Given the description of an element on the screen output the (x, y) to click on. 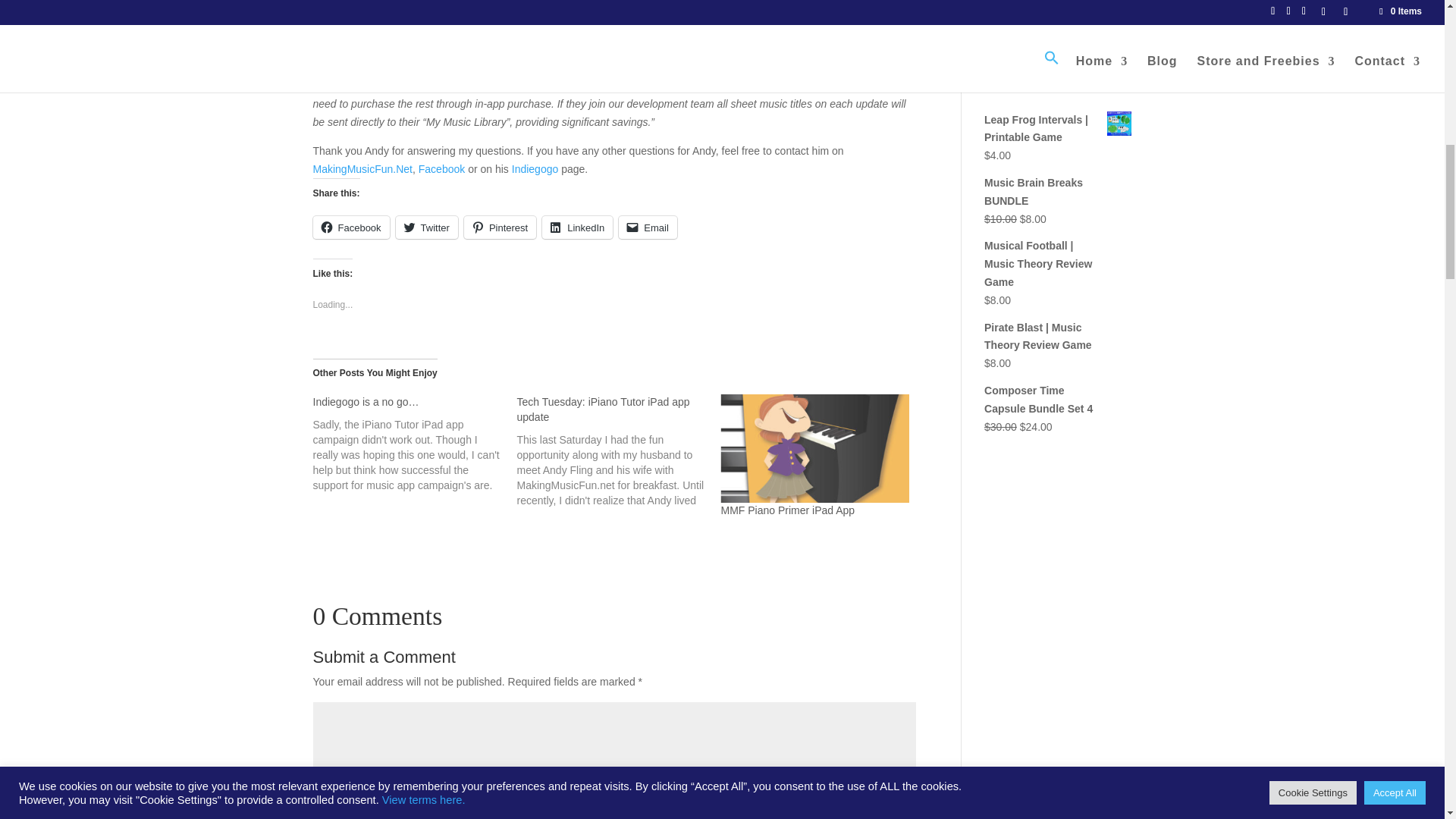
Click to share on Pinterest (499, 227)
Click to share on Facebook (350, 227)
Click to share on LinkedIn (576, 227)
MMF Piano Primer iPad App (787, 509)
MMF Piano Primer iPad App (814, 447)
Tech Tuesday: iPiano Tutor iPad app update (618, 450)
Click to share on Twitter (427, 227)
Tech Tuesday: iPiano Tutor iPad app update (602, 409)
Click to email a link to a friend (647, 227)
